Given the description of an element on the screen output the (x, y) to click on. 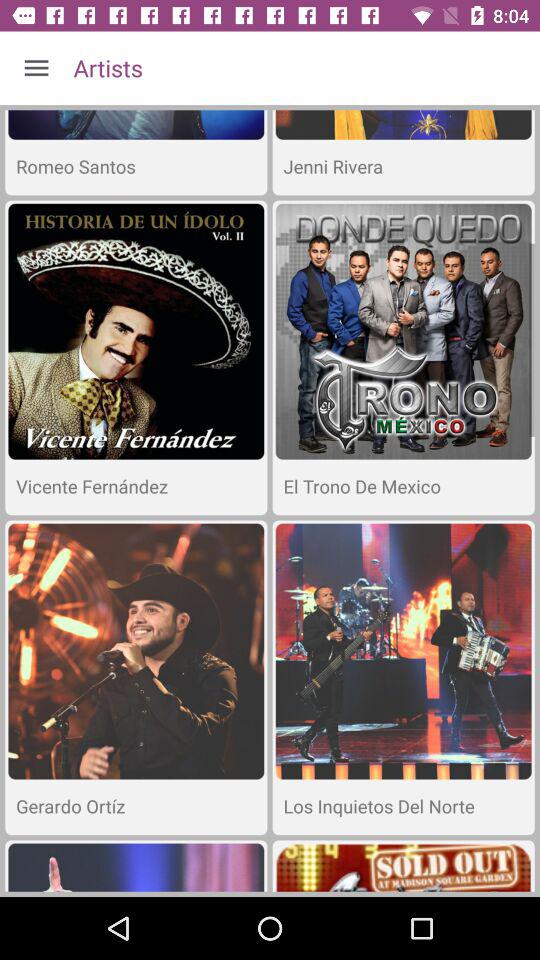
press icon to the left of the artists icon (36, 68)
